Given the description of an element on the screen output the (x, y) to click on. 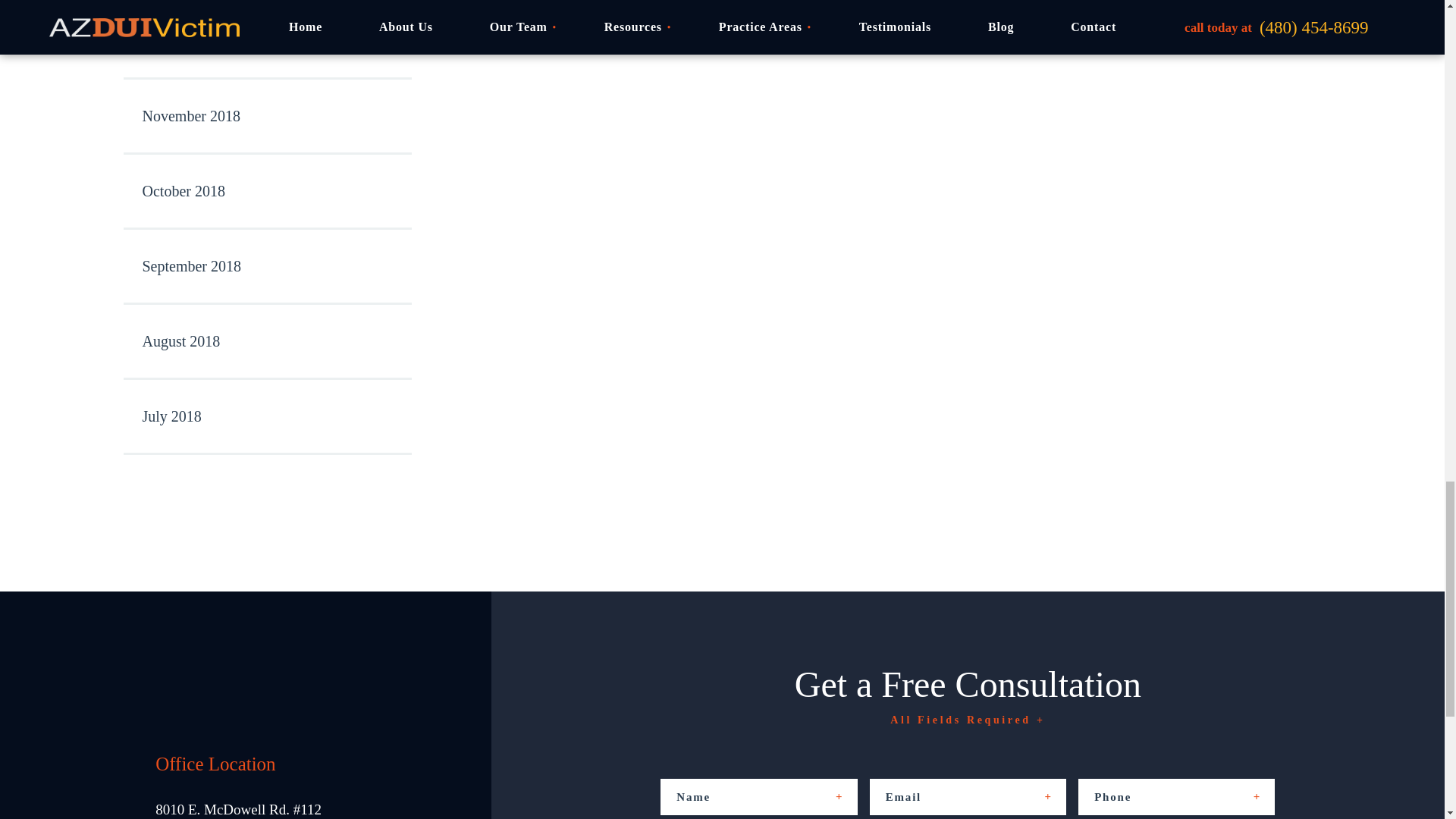
November 2018 (266, 116)
August 2018 (266, 342)
September 2018 (266, 267)
October 2018 (266, 192)
December 2018 (266, 41)
